Given the description of an element on the screen output the (x, y) to click on. 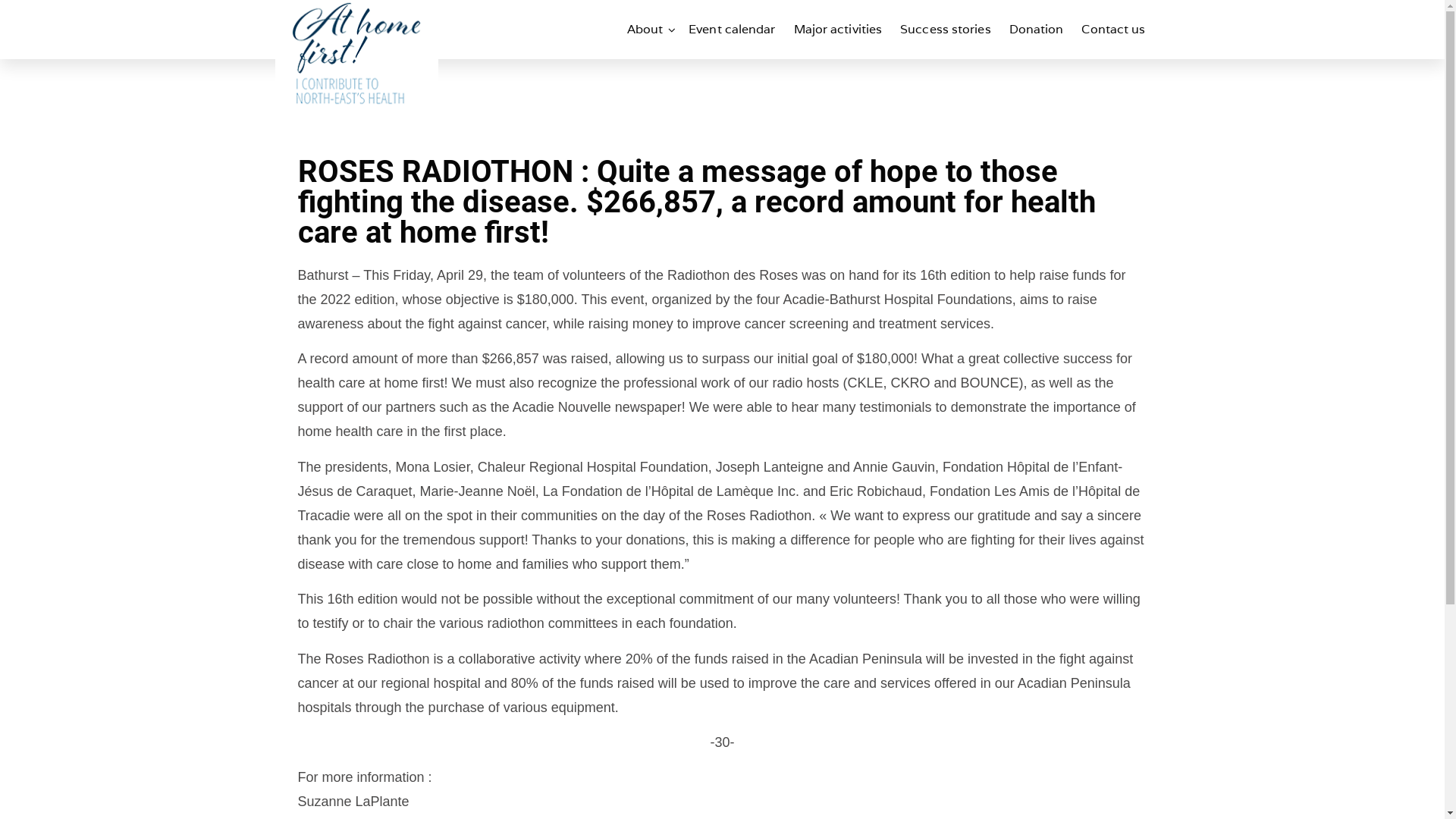
Contact us Element type: text (1113, 29)
Success stories Element type: text (945, 29)
Donation Element type: text (1036, 29)
About Element type: text (649, 29)
Event calendar Element type: text (731, 29)
Major activities Element type: text (837, 29)
